Given the description of an element on the screen output the (x, y) to click on. 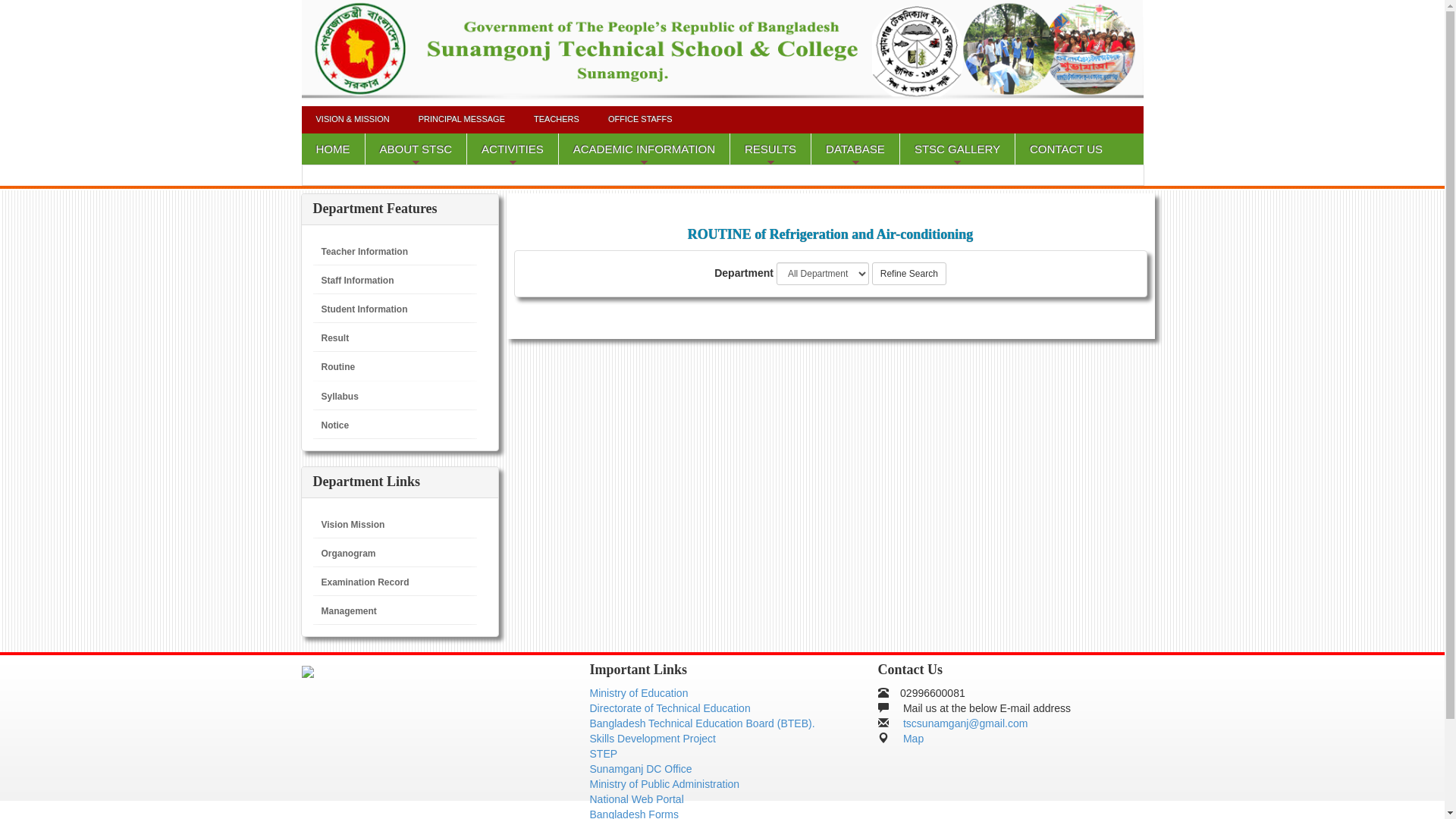
CONTACT US Element type: text (1066, 148)
Result Element type: text (335, 337)
ACTIVITIES Element type: text (512, 148)
Syllabus Element type: text (339, 396)
Skills Development Project Element type: text (652, 738)
VISION & MISSION Element type: text (352, 119)
Teacher Information Element type: text (364, 251)
tscsunamganj@gmail.com Element type: text (965, 723)
DATABASE Element type: text (855, 148)
ABOUT STSC Element type: text (416, 148)
STSC GALLERY Element type: text (957, 148)
Vision Mission Element type: text (353, 524)
Management Element type: text (348, 610)
OFFICE STAFFS Element type: text (640, 119)
Bangladesh Technical Education Board (BTEB). Element type: text (702, 723)
Routine Element type: text (338, 366)
PRINCIPAL MESSAGE Element type: text (461, 119)
Ministry of Education Element type: text (638, 693)
Notice Element type: text (335, 425)
Organogram Element type: text (348, 553)
RESULTS Element type: text (770, 148)
Map Element type: text (913, 738)
Sunamganj DC Office Element type: text (640, 768)
STEP Element type: text (603, 753)
TEACHERS Element type: text (556, 119)
ACADEMIC INFORMATION Element type: text (644, 148)
Refine Search Element type: text (909, 273)
Examination Record Element type: text (365, 582)
Directorate of Technical Education Element type: text (669, 708)
Student Information Element type: text (364, 309)
National Web Portal Element type: text (636, 799)
Ministry of Public Administration Element type: text (664, 784)
Staff Information Element type: text (357, 280)
HOME Element type: text (333, 148)
